Given the description of an element on the screen output the (x, y) to click on. 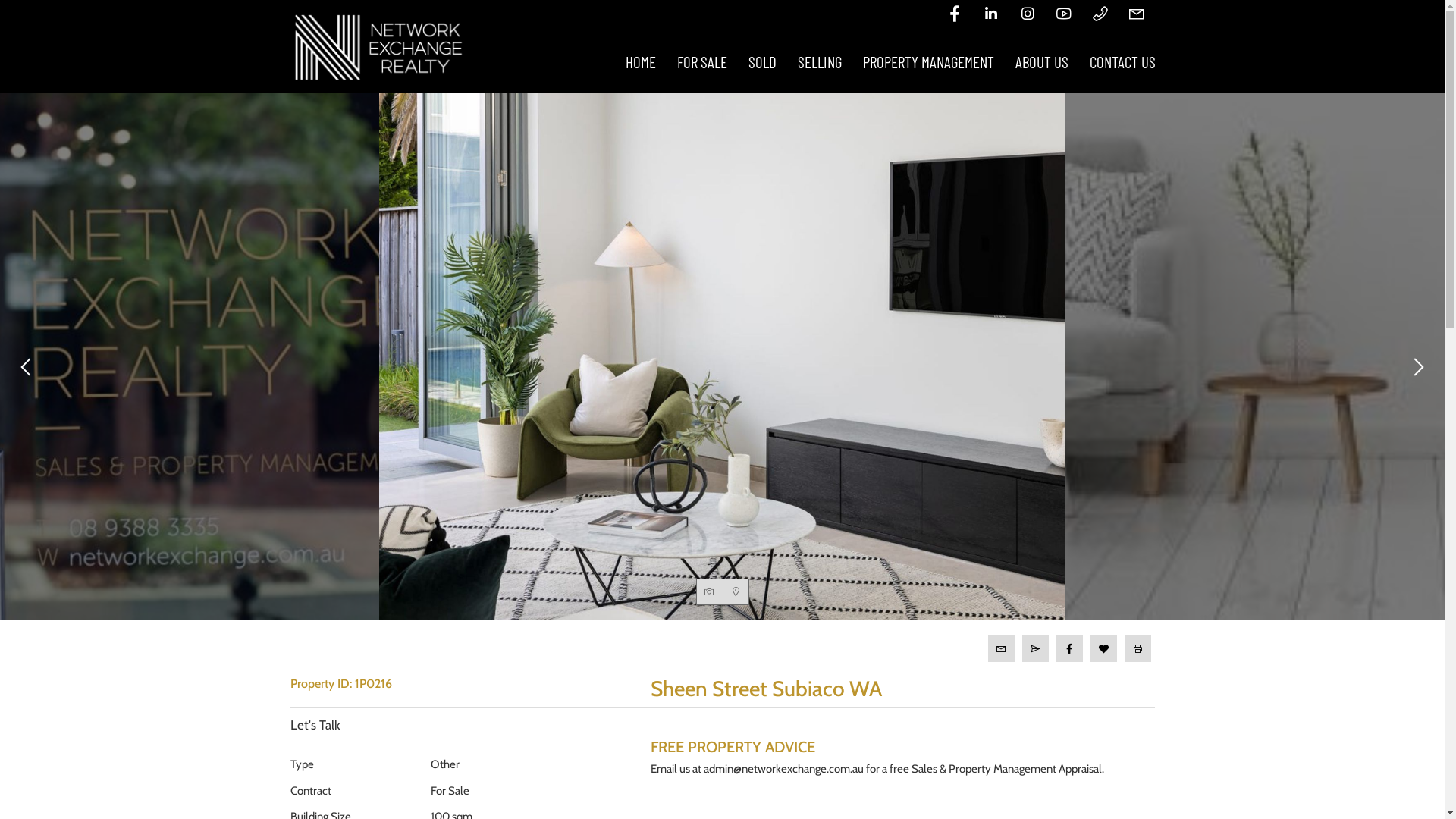
CONTACT US Element type: text (1121, 61)
HOME Element type: text (639, 61)
PROPERTY MANAGEMENT Element type: text (928, 61)
Email to Agent Element type: hover (1000, 648)
FOR SALE Element type: text (701, 61)
Email to Friend Element type: hover (1035, 648)
SELLING Element type: text (819, 61)
ABOUT US Element type: text (1041, 61)
SOLD Element type: text (761, 61)
